Given the description of an element on the screen output the (x, y) to click on. 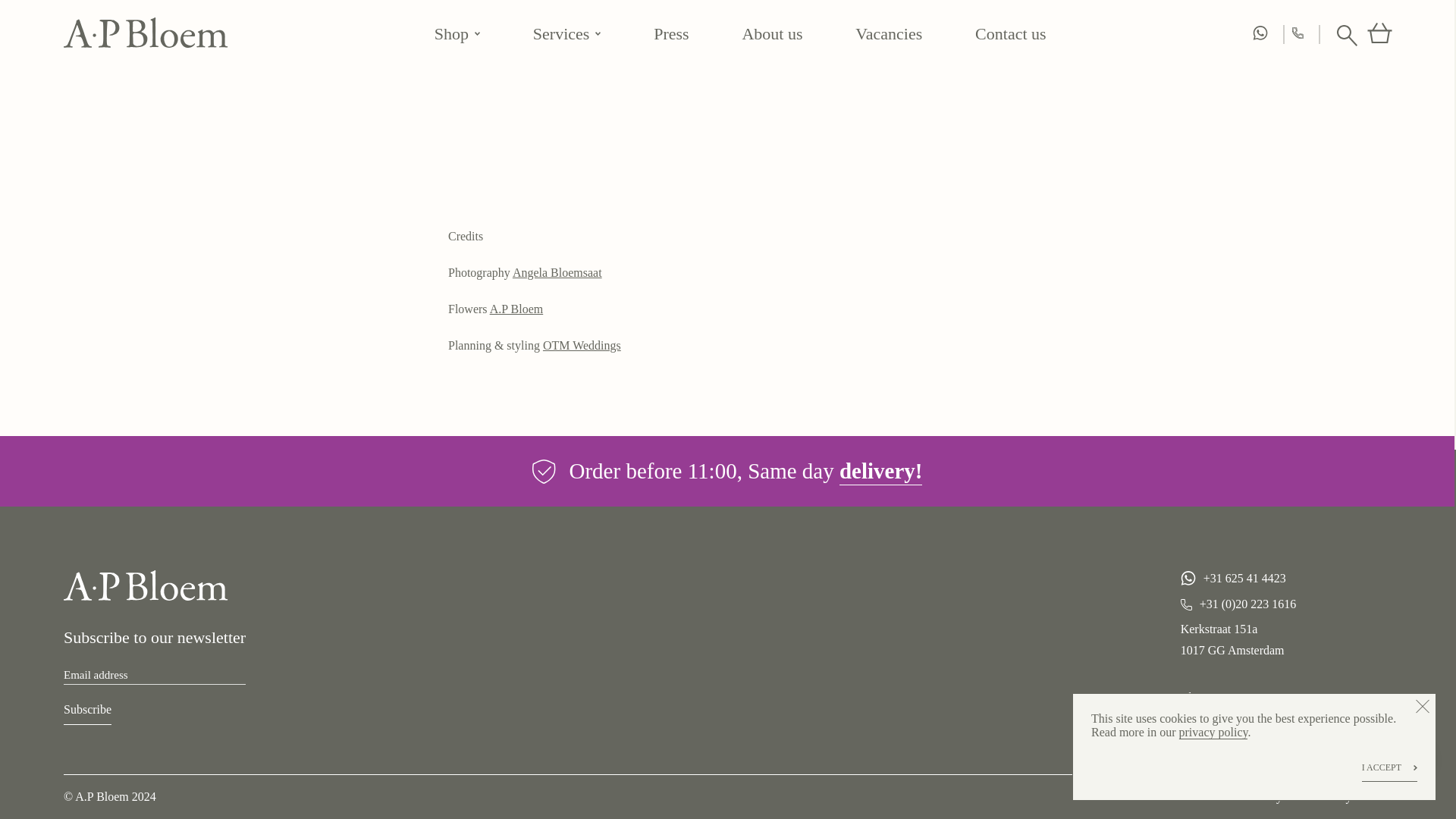
Angela Bloemsaat (557, 272)
whatsapp (1232, 578)
Phone (1238, 603)
A.P Bloem (516, 308)
OTM Weddings (582, 345)
